Given the description of an element on the screen output the (x, y) to click on. 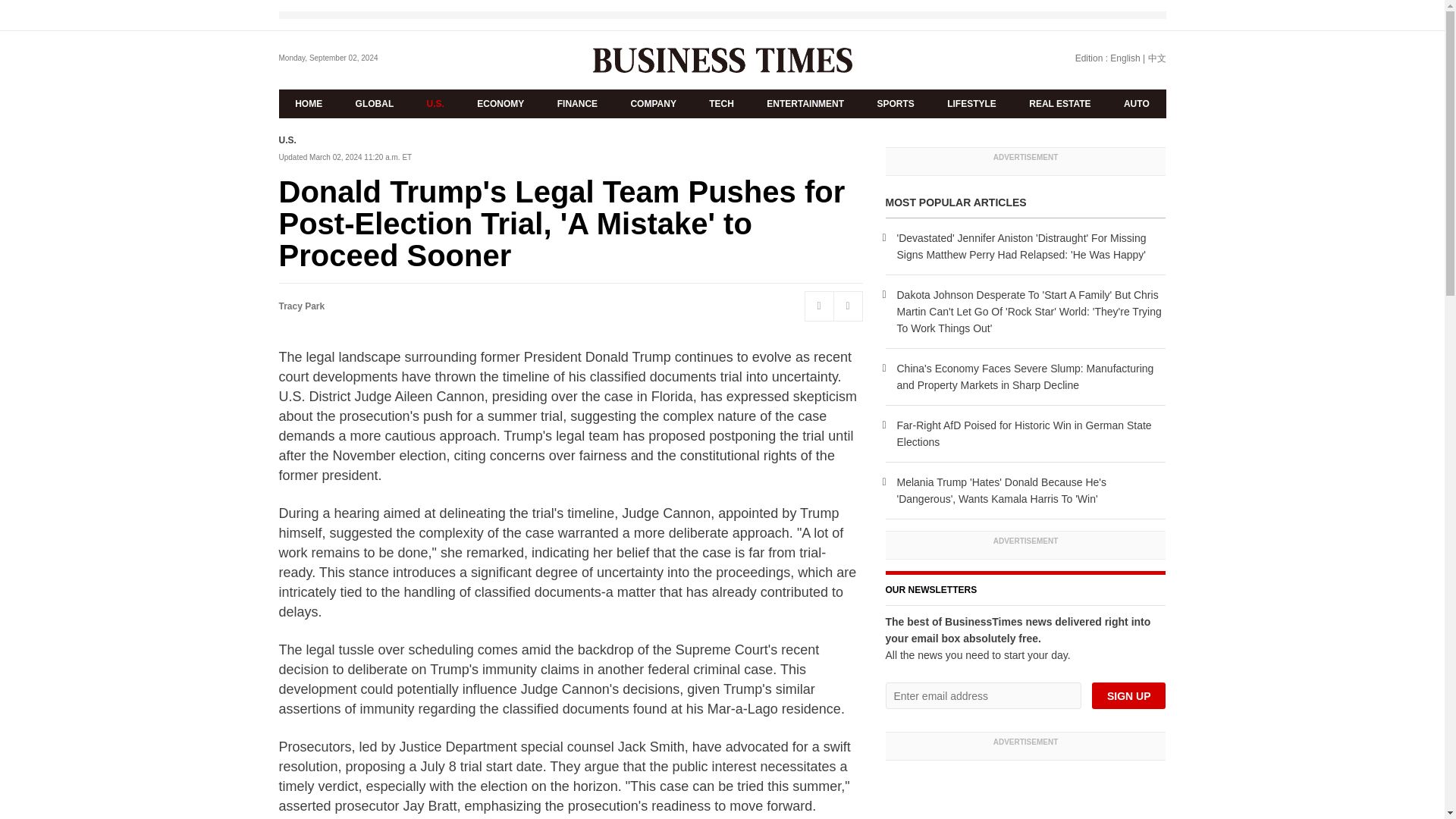
Sign up (1129, 695)
Tracy Park (301, 306)
ECONOMY (500, 103)
ENTERTAINMENT (805, 103)
SPORTS (895, 103)
U.S. (435, 103)
FINANCE (577, 103)
U.S. (288, 140)
COMPANY (653, 103)
HOME (309, 103)
